Given the description of an element on the screen output the (x, y) to click on. 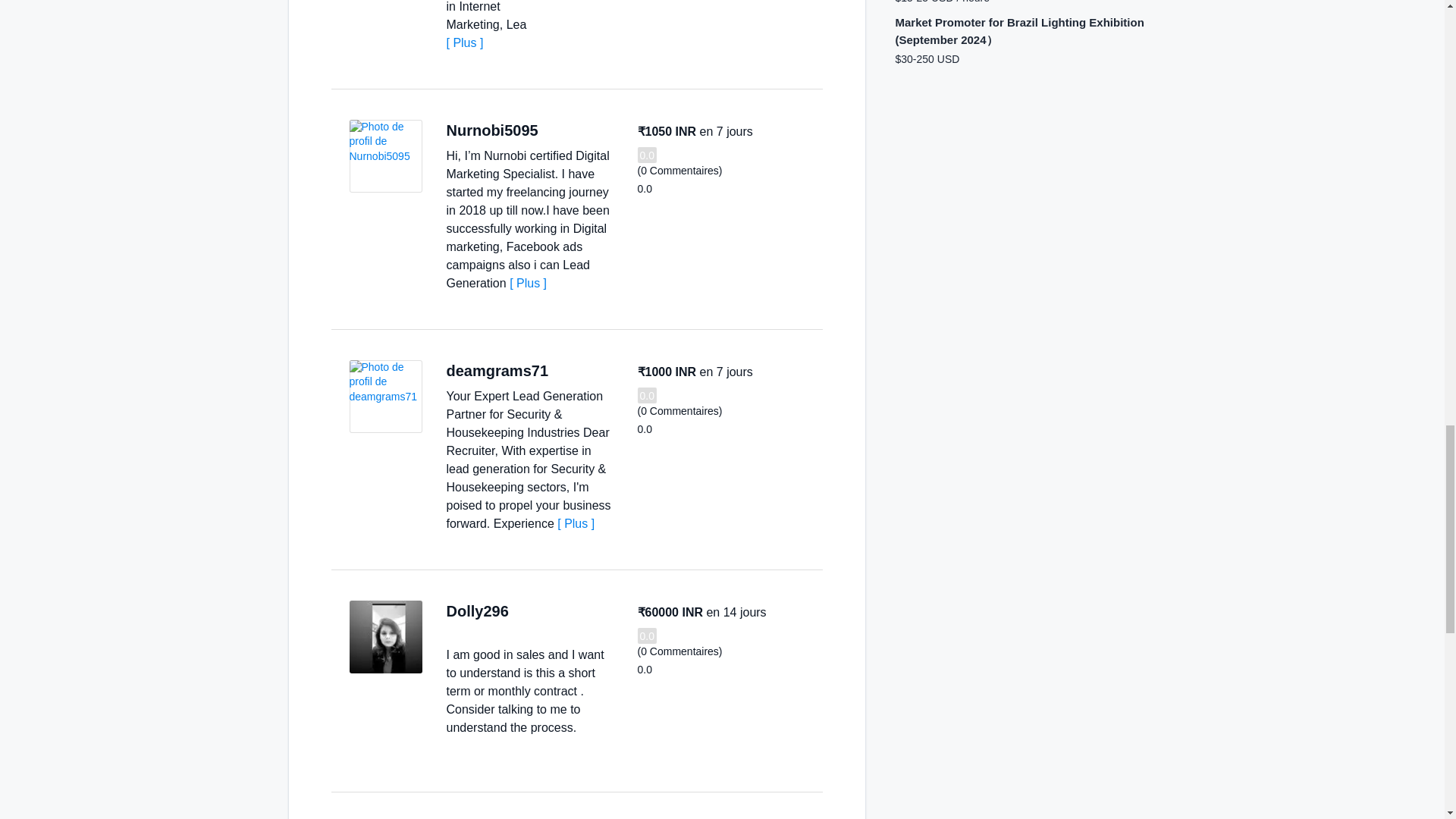
deamgrams71 (496, 370)
Plus (528, 282)
Bangladesh (553, 130)
Voir le profil de Nurnobi5095 (385, 155)
Voir le profil de deamgrams71 (385, 396)
Plus (464, 42)
Plus (575, 522)
Voir le profil de Dolly296 (385, 636)
Dolly296 (476, 610)
India (524, 611)
